Given the description of an element on the screen output the (x, y) to click on. 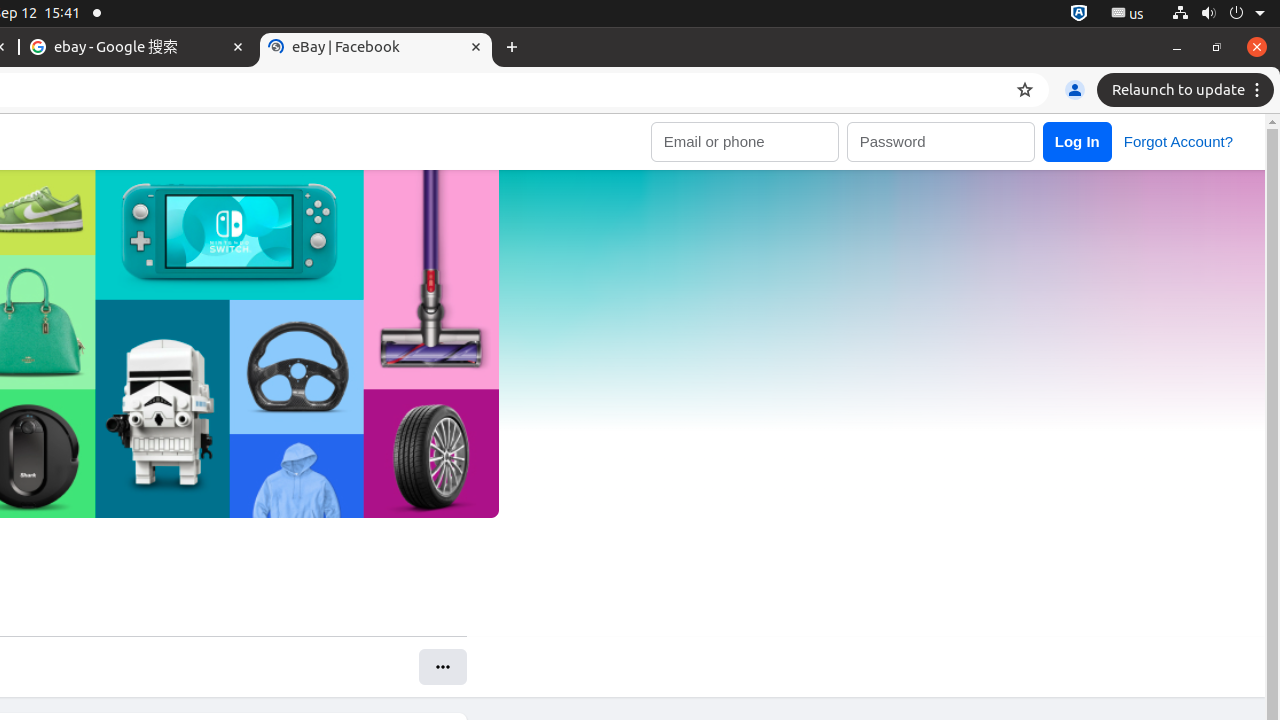
Bookmark this tab Element type: push-button (1025, 90)
Forgot Account? Element type: link (1178, 141)
:1.72/StatusNotifierItem Element type: menu (1079, 13)
See options Element type: push-button (442, 667)
Log In Element type: push-button (1077, 142)
